Given the description of an element on the screen output the (x, y) to click on. 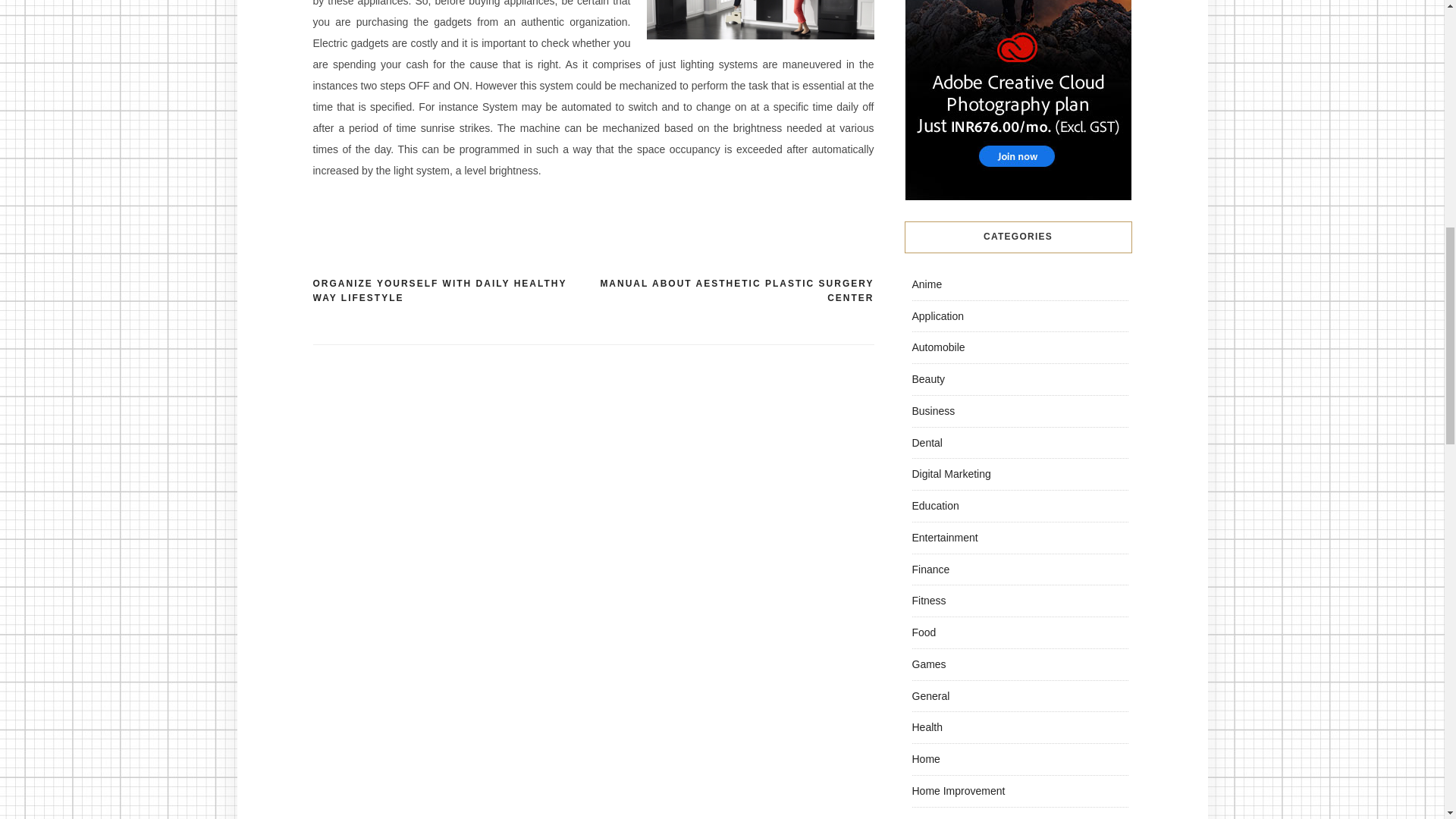
MANUAL ABOUT AESTHETIC PLASTIC SURGERY CENTER (732, 291)
Home Improvement (957, 790)
Business (933, 410)
Entertainment (943, 537)
Automobile (937, 346)
Home (925, 758)
Insurance (934, 817)
Finance (930, 568)
Dental (926, 442)
ORGANIZE YOURSELF WITH DAILY HEALTHY WAY LIFESTYLE (452, 291)
Anime (926, 284)
Beauty (927, 378)
Education (934, 505)
Health (926, 727)
Digital Marketing (950, 473)
